Given the description of an element on the screen output the (x, y) to click on. 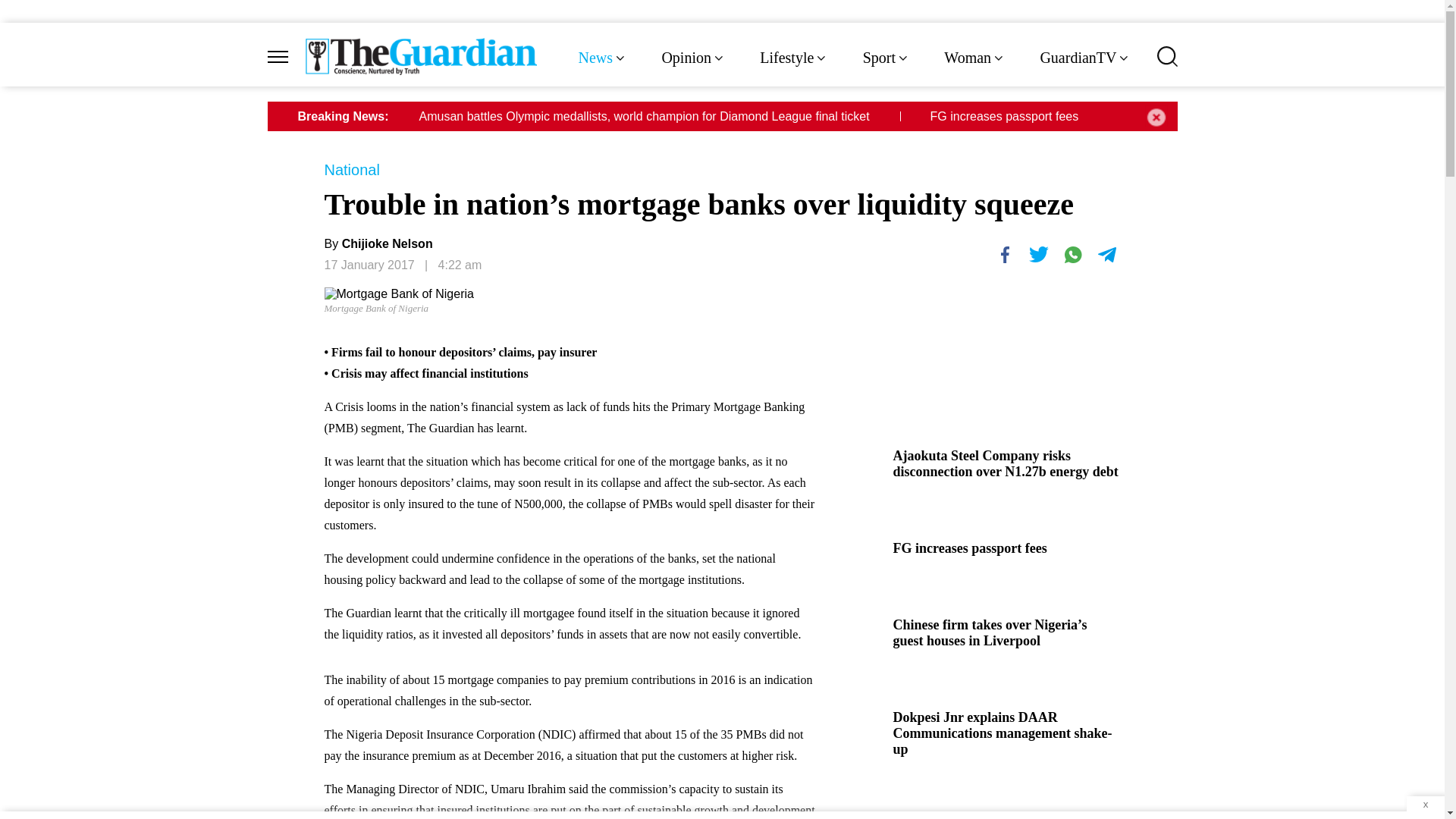
Lifestyle (794, 57)
News (602, 57)
GuardianTV (1085, 57)
Woman (974, 57)
Opinion (693, 57)
Sport (887, 57)
